Given the description of an element on the screen output the (x, y) to click on. 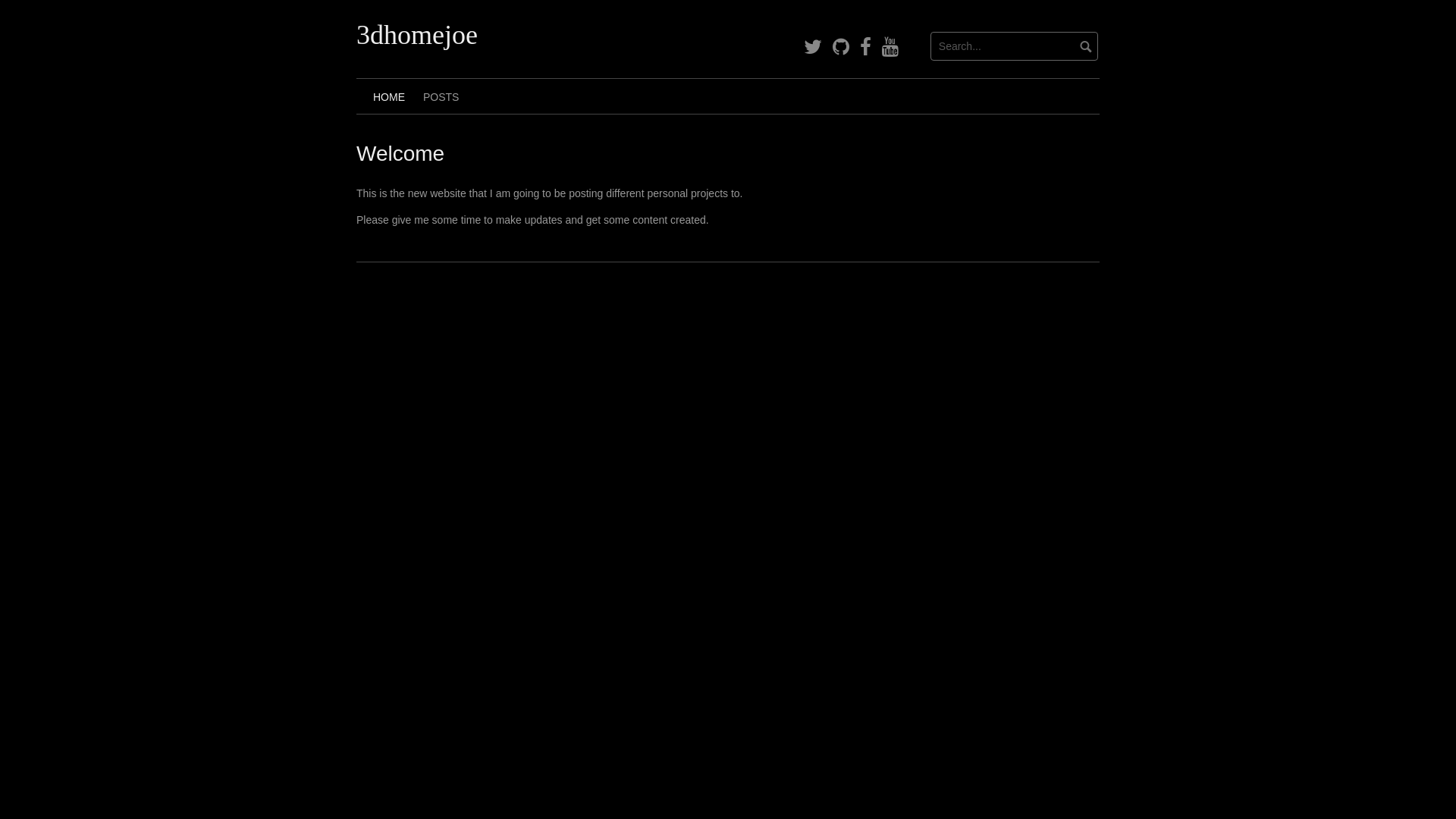
GitHub Element type: text (840, 47)
HOME Element type: text (389, 95)
3dhomejoe Element type: text (416, 34)
Facebook Element type: text (865, 47)
YouTube Element type: text (889, 47)
Twitter Element type: text (812, 47)
POSTS Element type: text (440, 95)
Search for: Element type: hover (1014, 45)
